Given the description of an element on the screen output the (x, y) to click on. 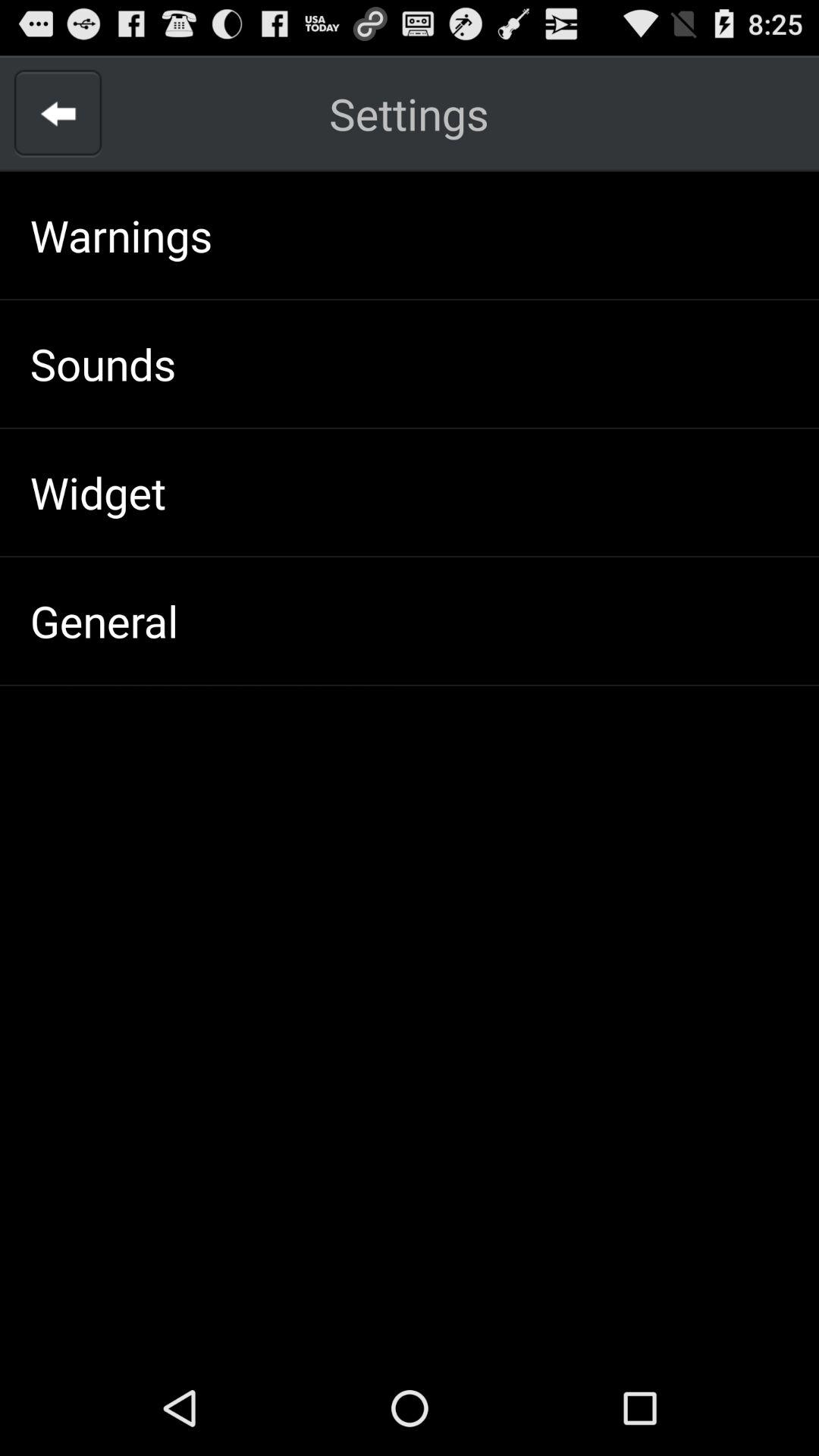
open the app above sounds app (121, 234)
